Given the description of an element on the screen output the (x, y) to click on. 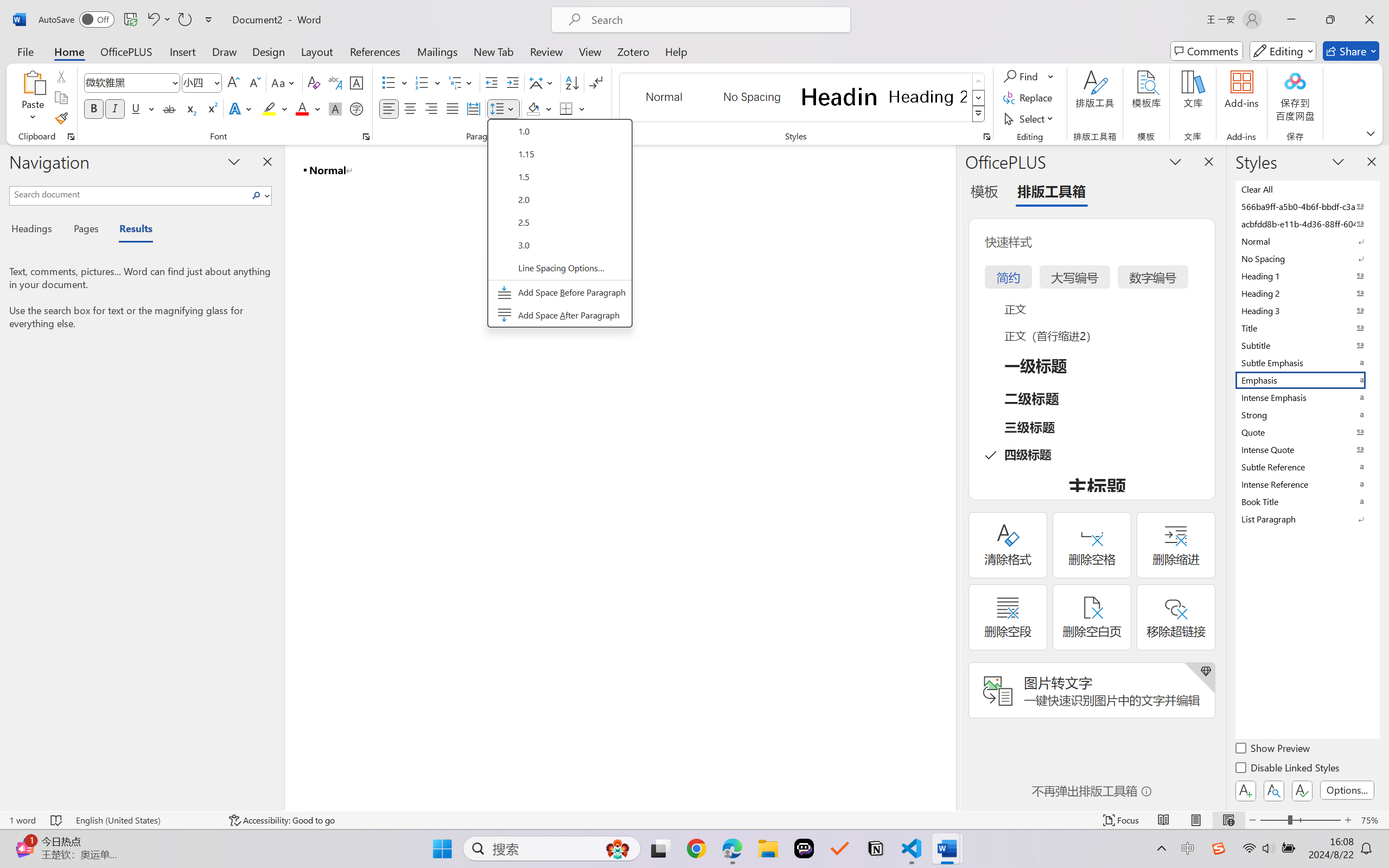
Focus  (1121, 819)
Character Shading (334, 108)
Help (675, 51)
566ba9ff-a5b0-4b6f-bbdf-c3ab41993fc2 (1306, 206)
Styles... (986, 136)
Task Pane Options (1175, 161)
Home (69, 51)
Strikethrough (169, 108)
